Given the description of an element on the screen output the (x, y) to click on. 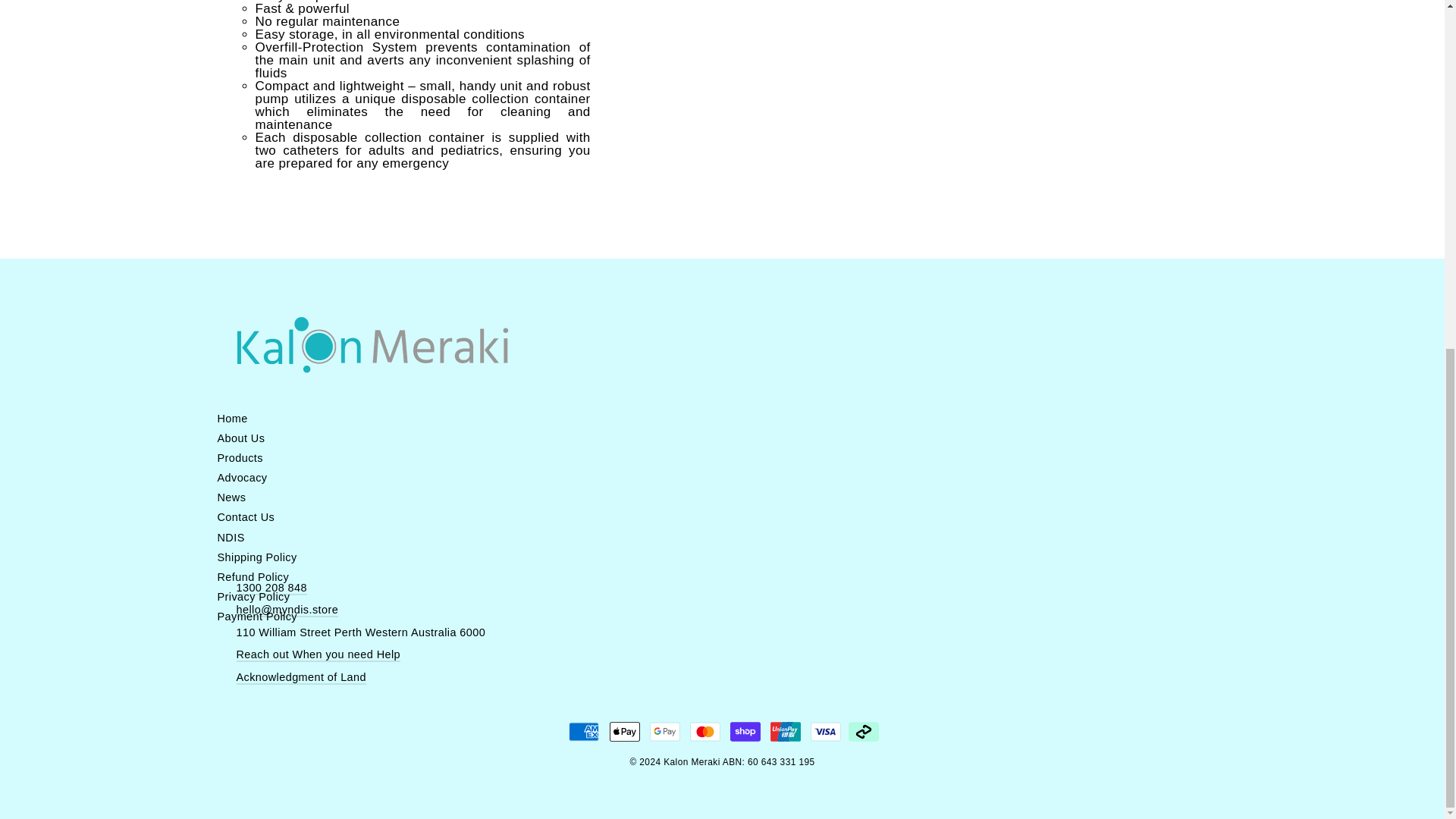
Visa (825, 731)
Shop Pay (745, 731)
Google Pay (664, 731)
Apple Pay (625, 731)
Mastercard (705, 731)
Union Pay (785, 731)
tel:0863112874 (271, 588)
Afterpay (863, 731)
American Express (583, 731)
